Given the description of an element on the screen output the (x, y) to click on. 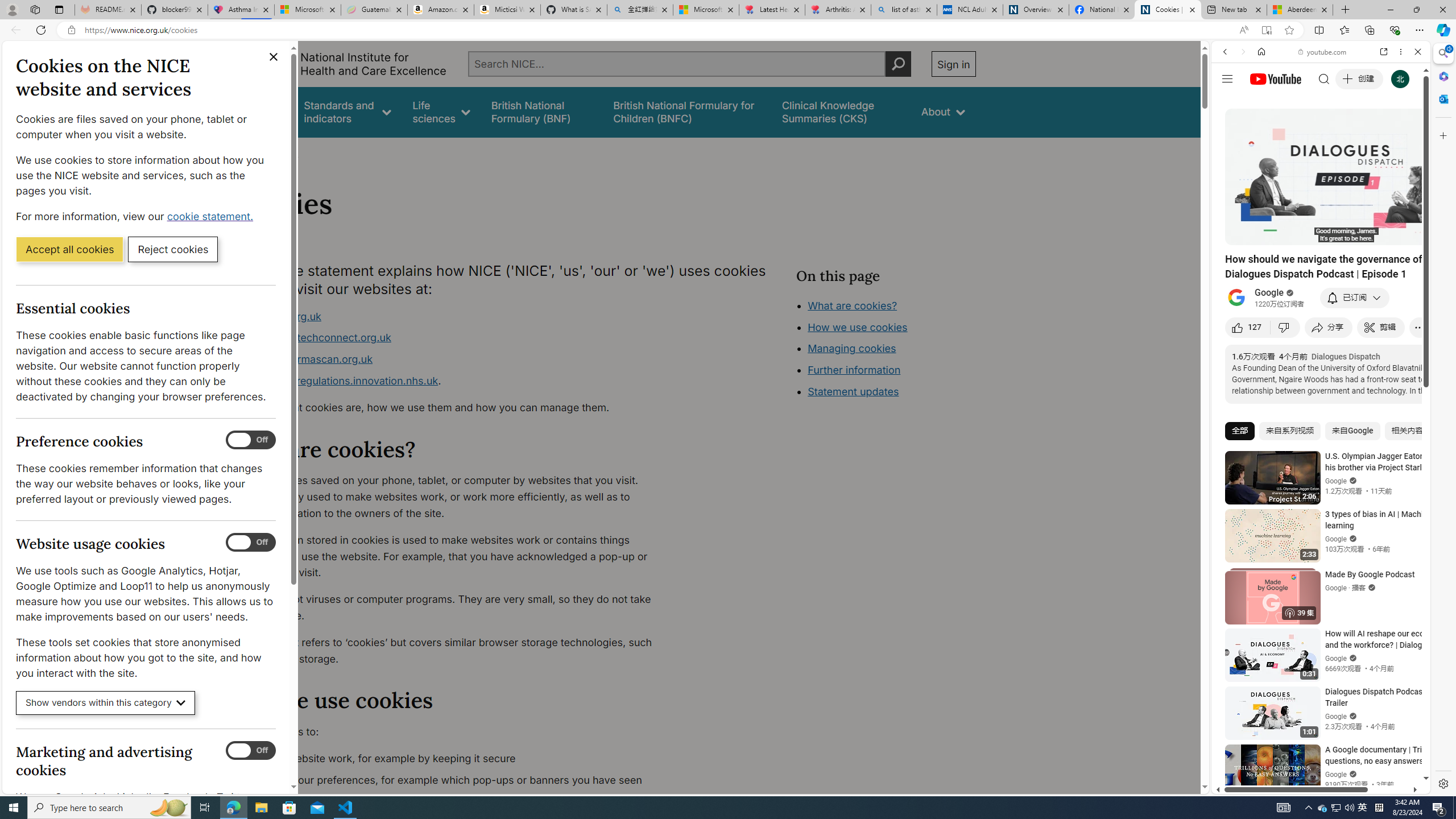
#you (1315, 659)
British National Formulary for Children (BNFC) (686, 111)
Global web icon (1232, 655)
you (1315, 755)
Guidance (260, 111)
IMAGES (1262, 130)
Show vendors within this category (105, 703)
Google (1269, 292)
